Given the description of an element on the screen output the (x, y) to click on. 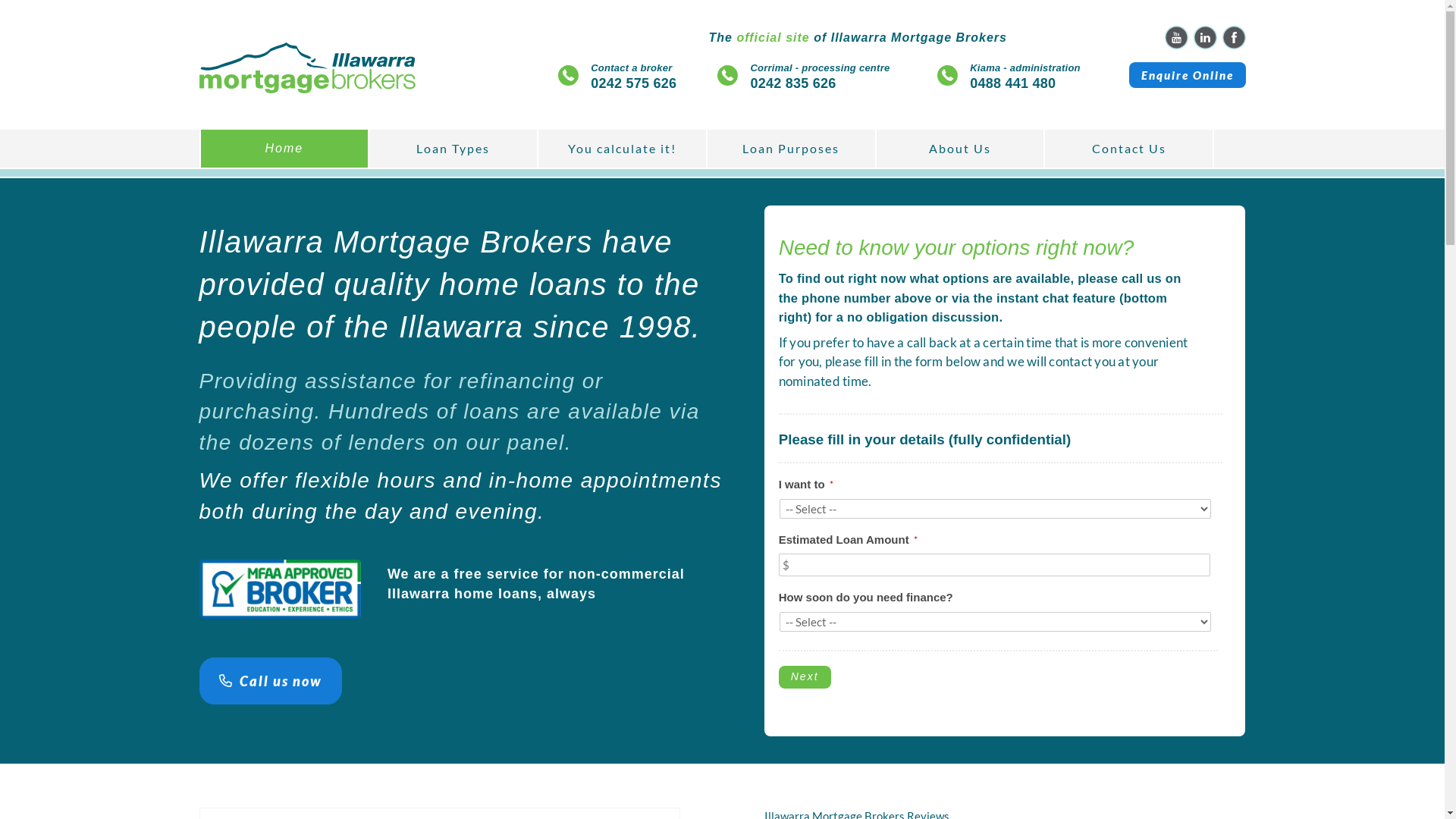
Illawarra Mortgage Brokers on YouTube Element type: hover (1176, 37)
Illawarra Mortgage Brokers Element type: hover (306, 67)
Home Element type: text (283, 148)
Enquire Online Element type: text (1186, 74)
Illawarra Mortgage Brokers Element type: hover (568, 75)
Illawarra Mortgage Brokers Element type: hover (727, 75)
Loan Types Element type: text (452, 148)
Next Element type: text (804, 676)
Contact Us Element type: text (1128, 148)
0242 835 626 Element type: text (792, 83)
Illawarra Mortgage Brokers Element type: hover (306, 65)
0242 575 626 Element type: text (633, 83)
Call us now Element type: text (269, 680)
Illawarra Mortgage Brokers Element type: hover (947, 75)
You calculate it! Element type: text (622, 148)
Loan Purposes Element type: text (791, 148)
0488 441 480 Element type: text (1012, 83)
Wollongong home loans by Illawarra Mortgage Brokers Element type: hover (279, 589)
About Us Element type: text (960, 148)
